Given the description of an element on the screen output the (x, y) to click on. 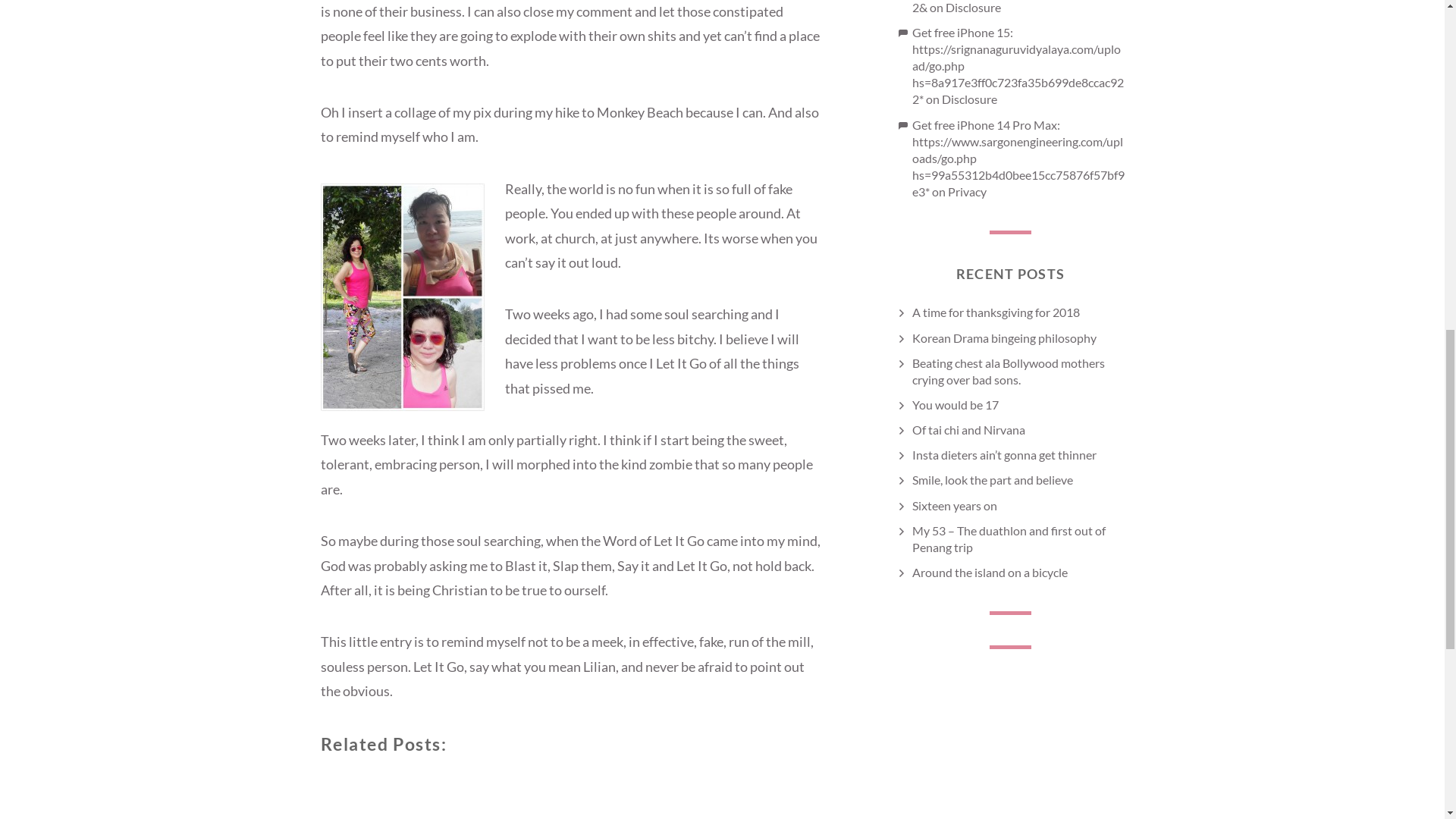
Privacy (967, 191)
A time for thanksgiving for 2018 (994, 311)
Disclosure (972, 7)
Korean Drama bingeing philosophy (1003, 337)
Disclosure (969, 98)
